Given the description of an element on the screen output the (x, y) to click on. 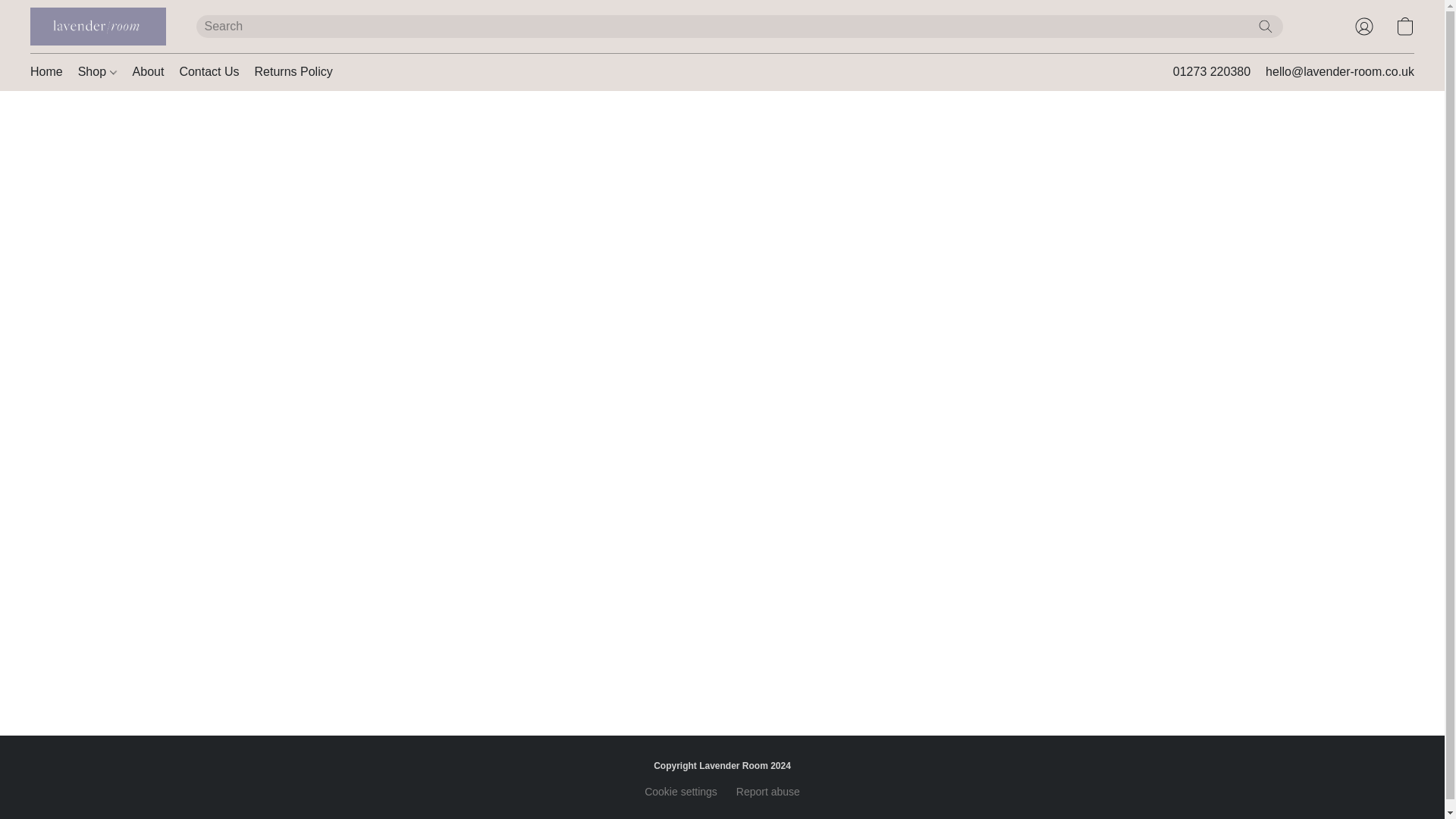
Contact Us (208, 71)
01273 220380 (1211, 71)
Go to your shopping cart (1404, 26)
About (148, 71)
Shop (97, 71)
Returns Policy (290, 71)
Home (49, 71)
Report abuse (767, 791)
